Given the description of an element on the screen output the (x, y) to click on. 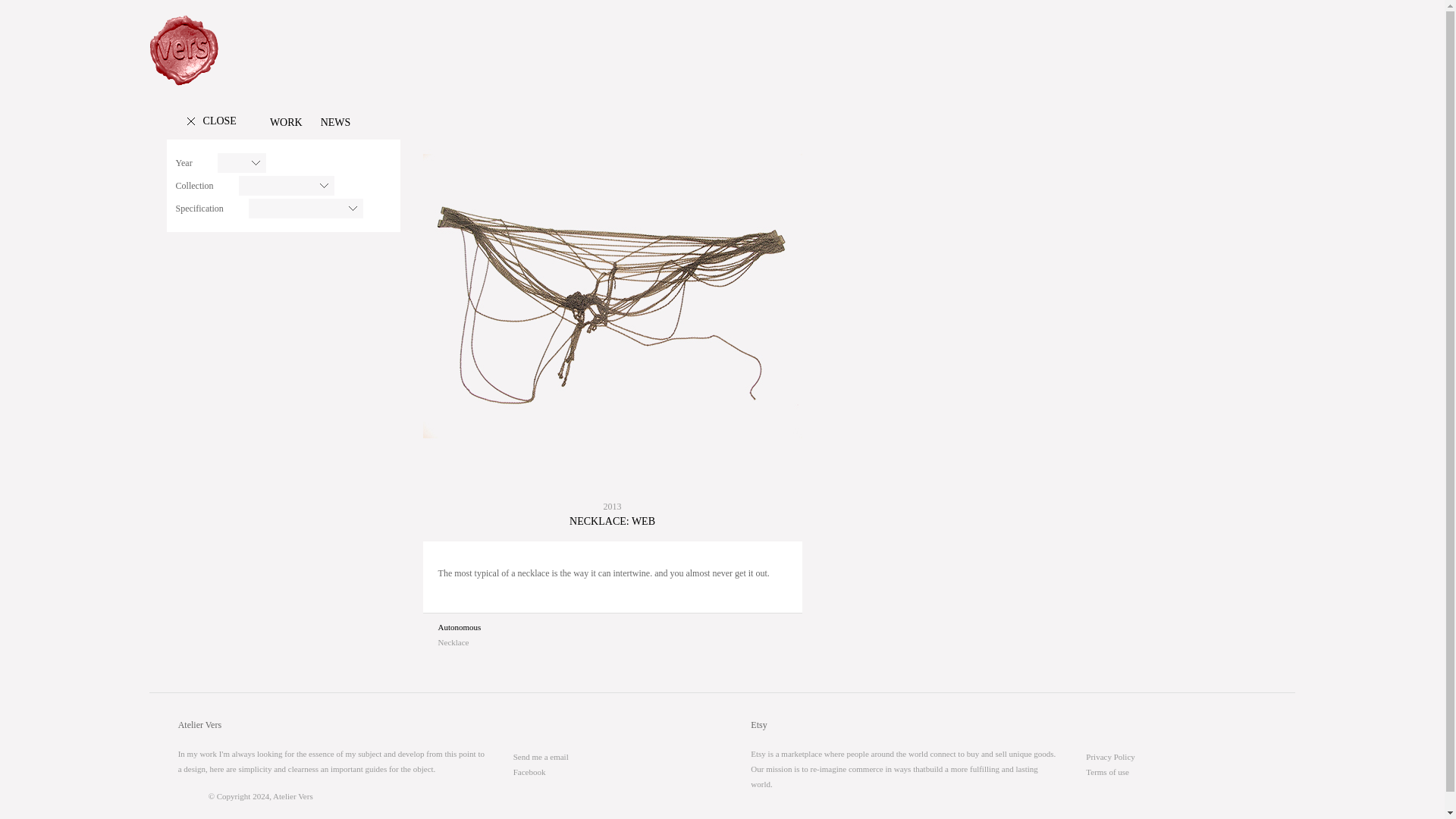
Close (213, 121)
View all work of Necklace (453, 642)
View all work of Autonomous (459, 626)
News (335, 122)
Necklace (453, 642)
Read the privacy policy (1110, 756)
Terms of use (1107, 771)
Send me a email (541, 756)
WORK (285, 122)
Send me a email (541, 756)
